Given the description of an element on the screen output the (x, y) to click on. 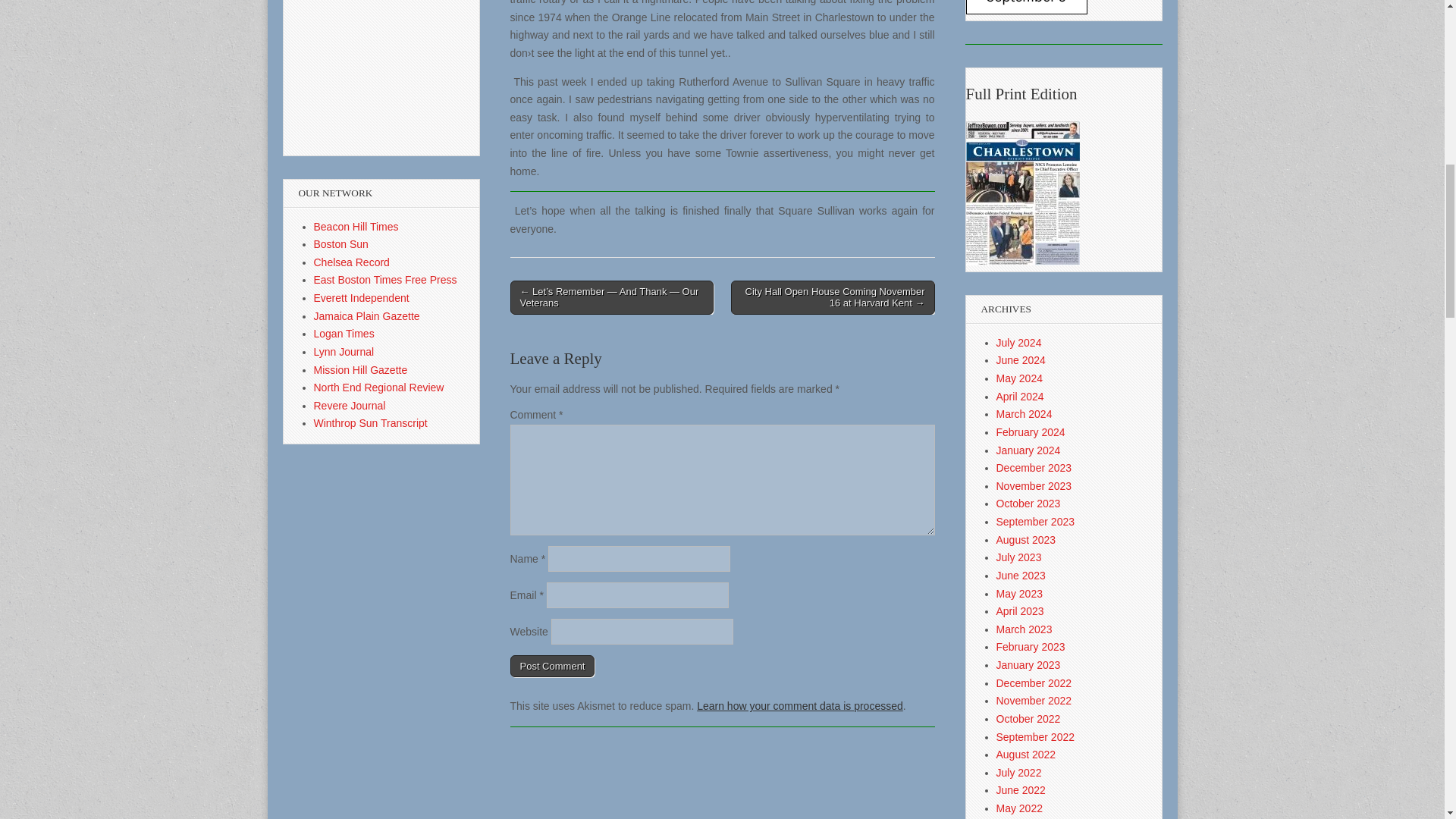
Boston Sun (341, 244)
Winthrop Sun Transcript (371, 422)
Revere Journal (349, 405)
Beacon Hill Times (356, 226)
Mission Hill Gazette (360, 369)
Chelsea Record (352, 262)
Jamaica Plain Gazette (367, 316)
Everett Independent (361, 297)
North End Regional Review (379, 387)
Post Comment (551, 666)
Lynn Journal (344, 351)
Logan Times (344, 333)
Learn how your comment data is processed (799, 705)
3rd party ad content (343, 77)
Post Comment (551, 666)
